Given the description of an element on the screen output the (x, y) to click on. 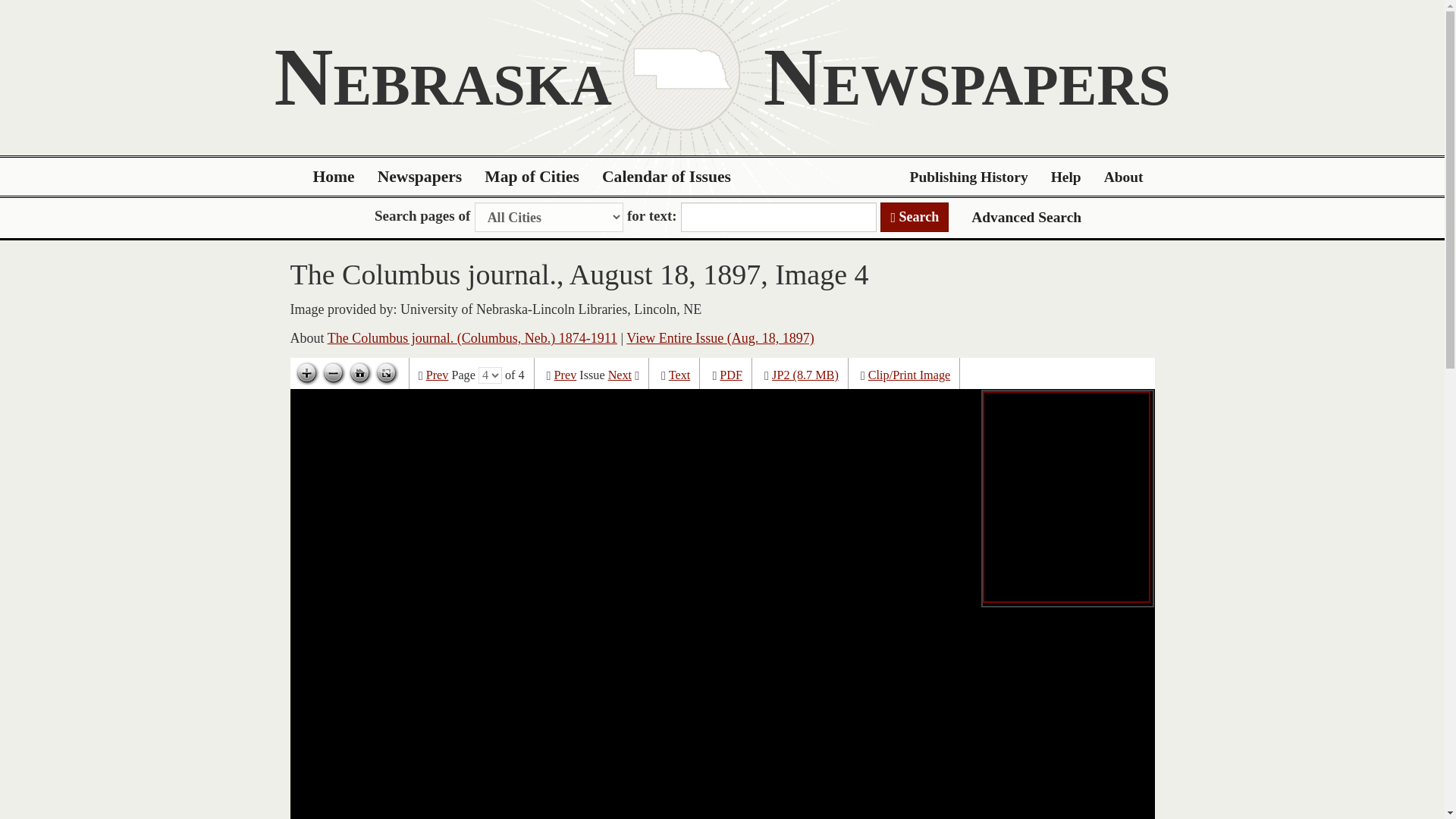
Prev (437, 375)
Home (333, 176)
Toggle full page (385, 373)
Publishing History (968, 176)
PDF (730, 375)
Zoom out (333, 373)
Advanced Search (1026, 216)
Newspapers (420, 176)
Prev (565, 375)
About (1123, 176)
Text (679, 375)
Search (914, 217)
Next (619, 375)
Calendar of Issues (666, 176)
Go home (359, 373)
